Given the description of an element on the screen output the (x, y) to click on. 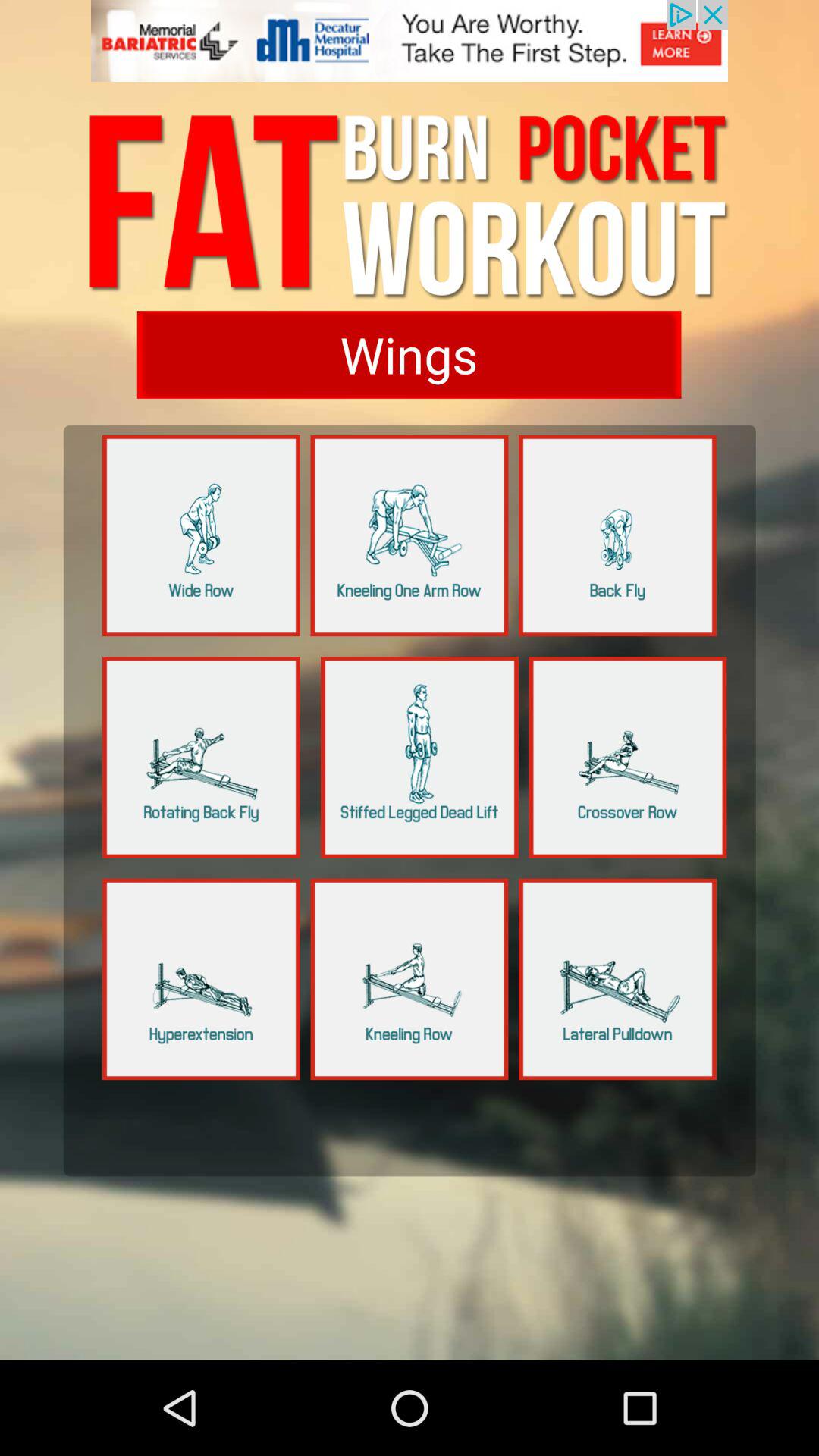
open menu section (409, 535)
